Given the description of an element on the screen output the (x, y) to click on. 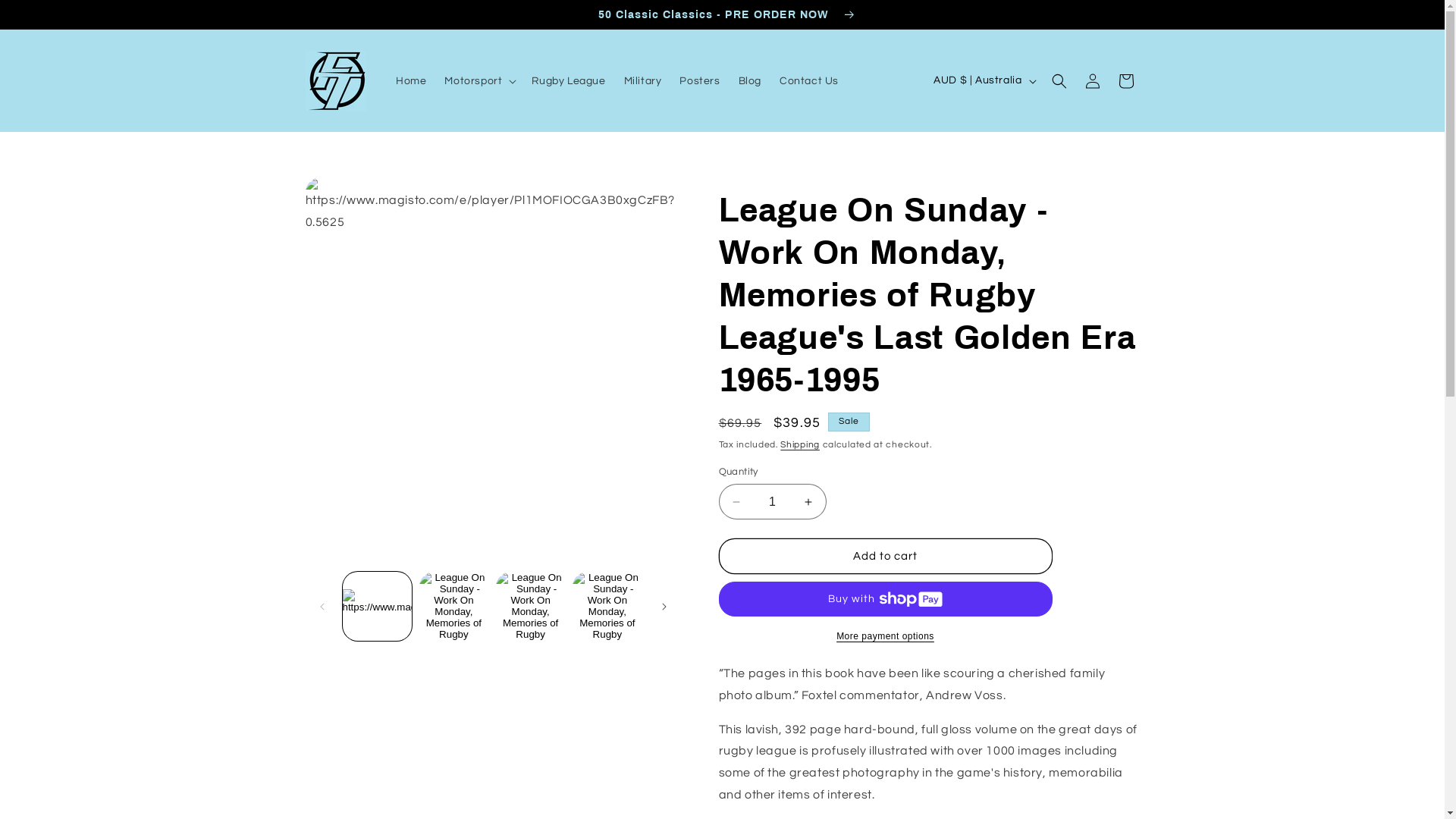
Rugby League Element type: text (568, 81)
Add to cart Element type: text (885, 556)
Shipping Element type: text (799, 444)
Log in Element type: text (1091, 80)
Blog Element type: text (749, 81)
Skip to product information Element type: text (350, 194)
More payment options Element type: text (885, 635)
Posters Element type: text (699, 81)
AUD $ | Australia Element type: text (982, 80)
Home Element type: text (410, 81)
Contact Us Element type: text (808, 81)
Cart Element type: text (1125, 80)
Military Element type: text (643, 81)
